Given the description of an element on the screen output the (x, y) to click on. 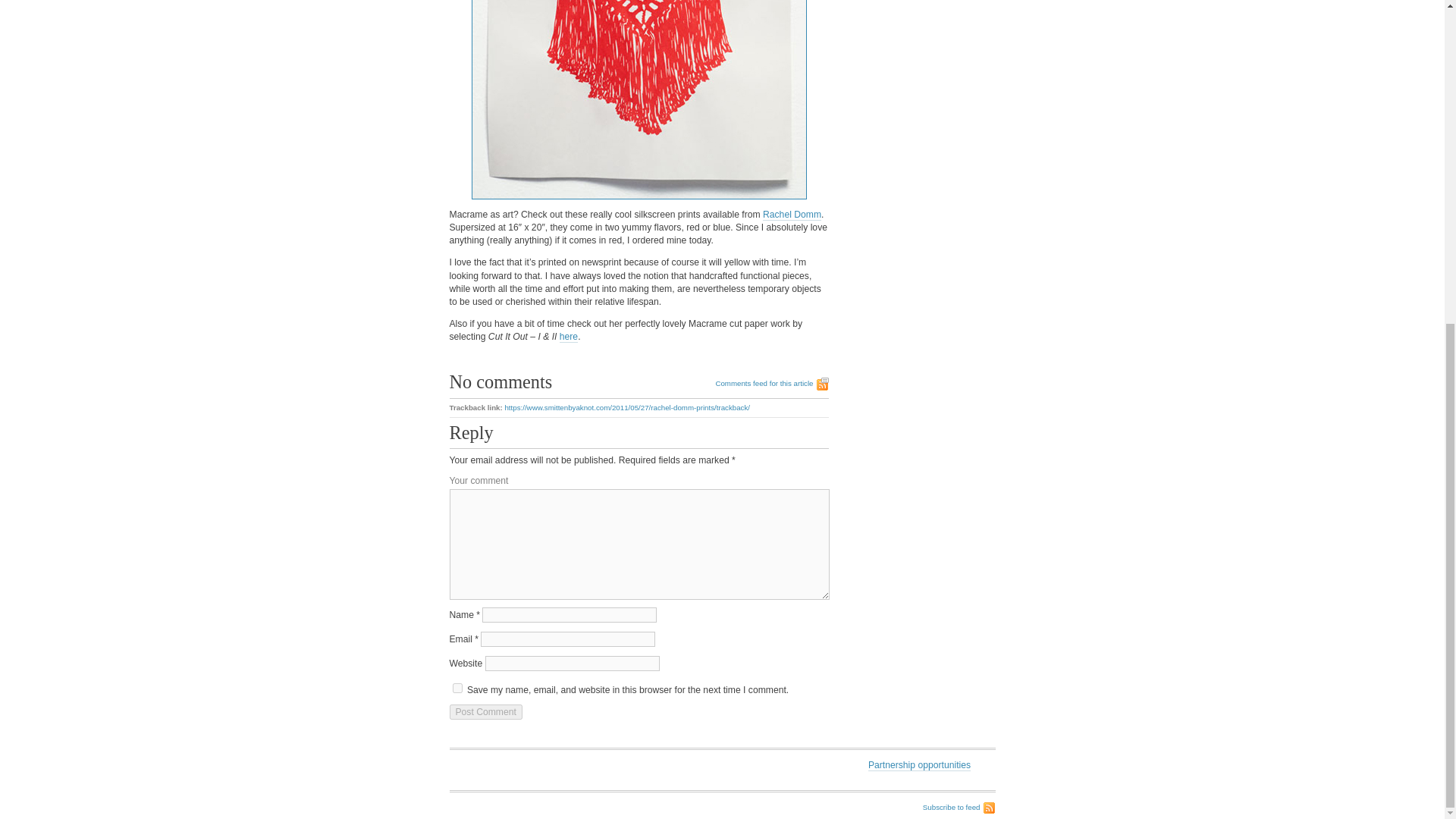
Post Comment (484, 711)
Comments feed for this article (771, 384)
Rachel Domm (791, 214)
Rachel Domm Macrame Print (638, 99)
yes (456, 687)
Partnership opportunities (919, 765)
Post Comment (484, 711)
Subscribe to feed (959, 807)
Rachel Domm Macrame Print (638, 99)
here (568, 337)
